Given the description of an element on the screen output the (x, y) to click on. 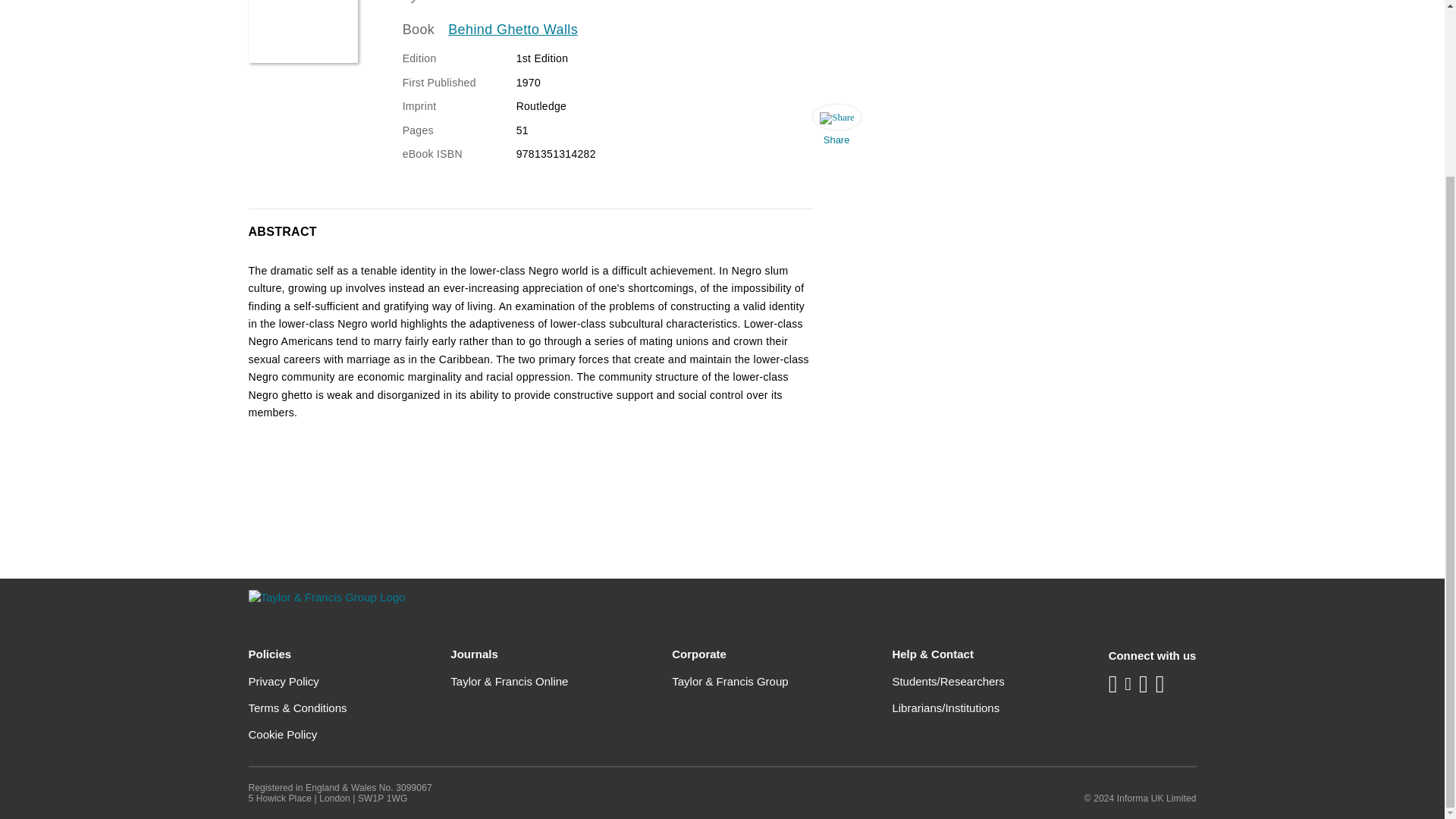
Negro Lower-Class Identity and Culture (303, 31)
Lee Rainwater (467, 1)
Cookie Policy (282, 734)
Share (836, 128)
Behind Ghetto Walls (513, 29)
Privacy Policy (283, 681)
